Given the description of an element on the screen output the (x, y) to click on. 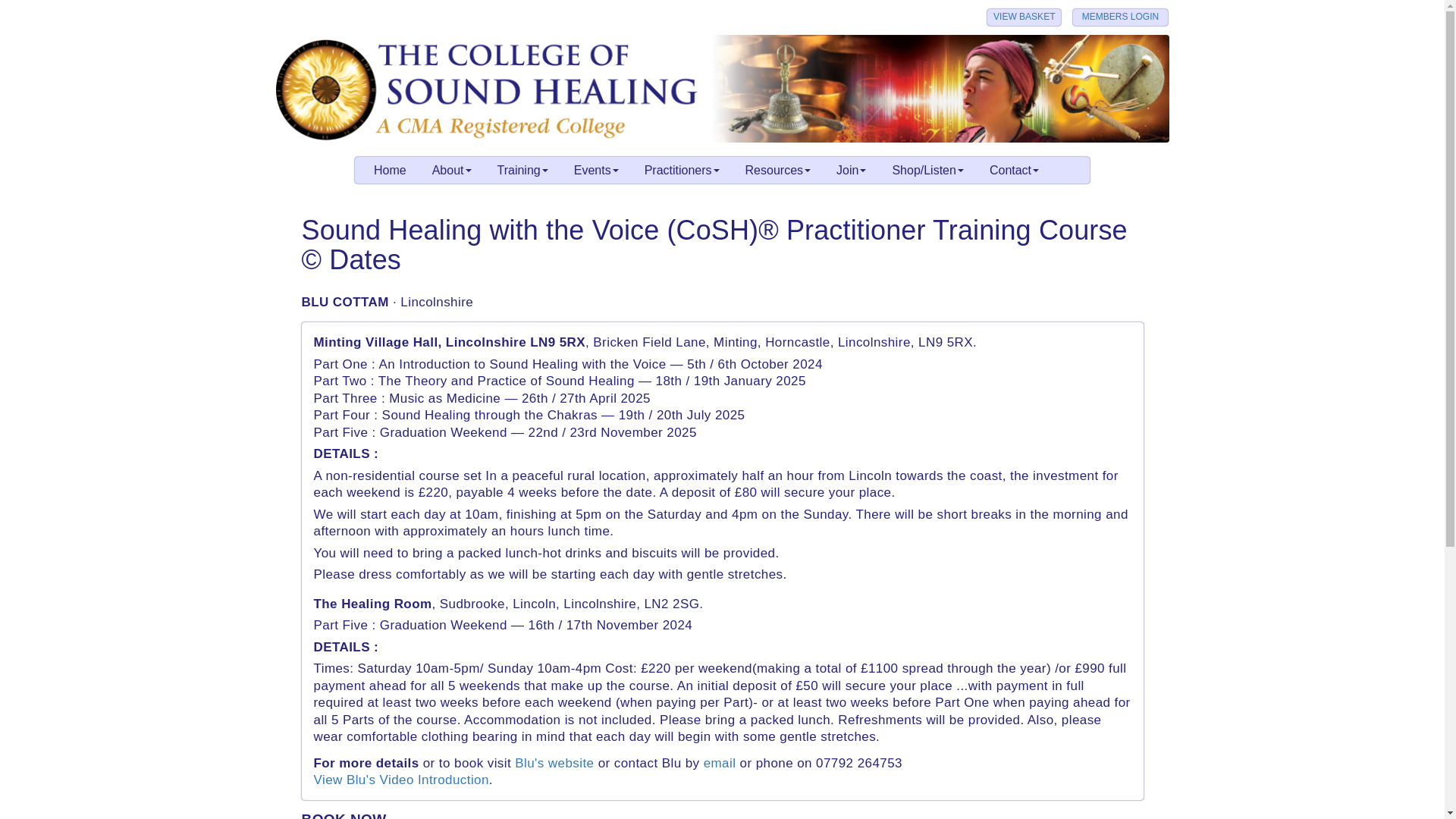
VIEW BASKET (1024, 17)
Training (521, 168)
VIEW BASKET (1024, 17)
Home (390, 168)
Home Page (722, 88)
Practitioners (681, 168)
Events (595, 168)
About (451, 168)
